Given the description of an element on the screen output the (x, y) to click on. 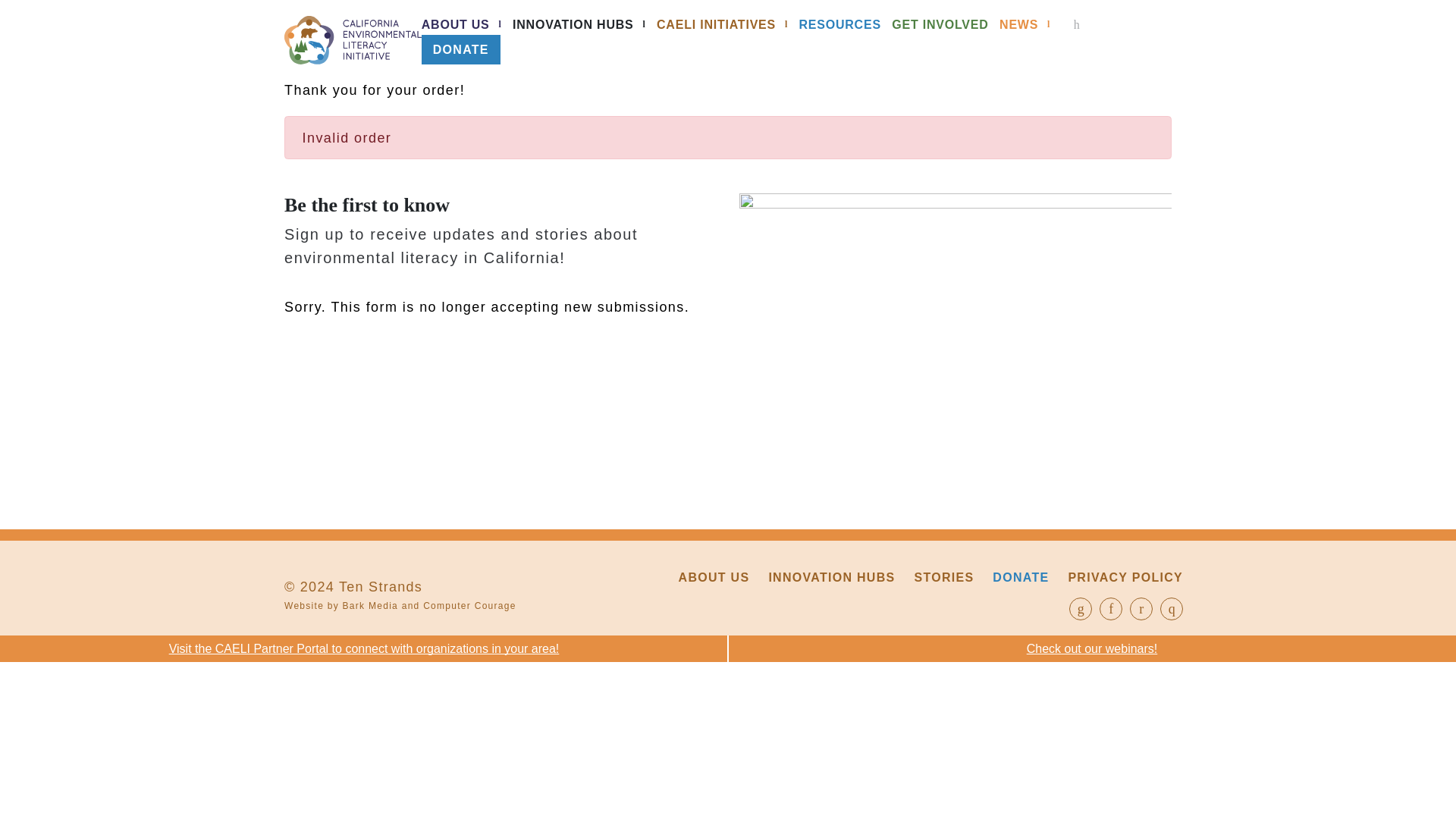
NEWS (1018, 24)
GET INVOLVED (939, 24)
Bark Media (370, 605)
Check out our webinars! (1091, 648)
Computer Courage (469, 605)
Ten Strands (380, 586)
STORIES (944, 576)
INNOVATION HUBS (572, 24)
INNOVATION HUBS (831, 576)
DONATE (461, 49)
ABOUT US (455, 24)
RESOURCES (838, 24)
CAELI INITIATIVES (716, 24)
DONATE (1020, 576)
PRIVACY POLICY (1124, 576)
